Given the description of an element on the screen output the (x, y) to click on. 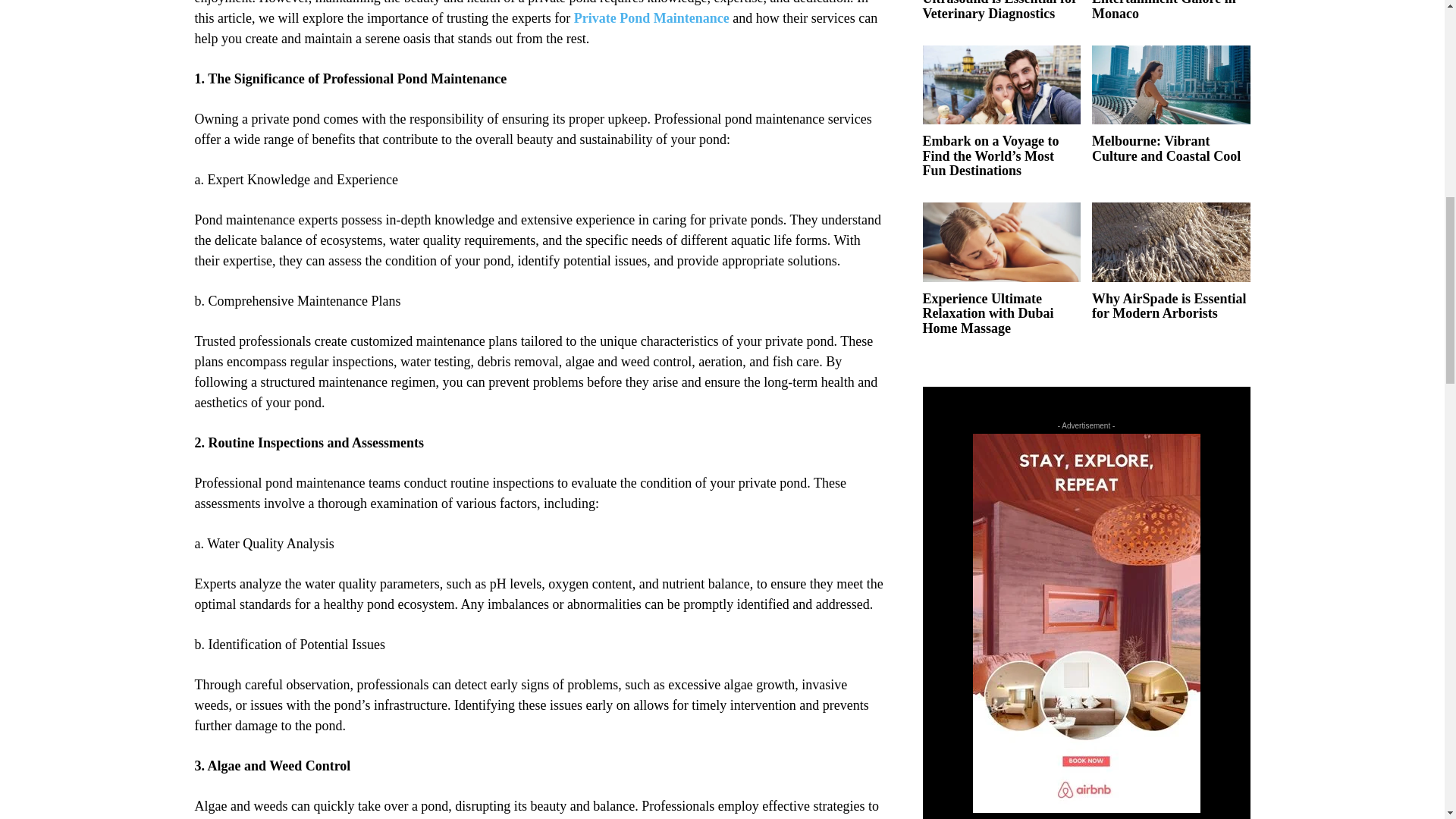
Monte Carlo Marvels: Entertainment Galore in Monaco (1164, 10)
Melbourne: Vibrant Culture and Coastal Cool (1171, 84)
